Given the description of an element on the screen output the (x, y) to click on. 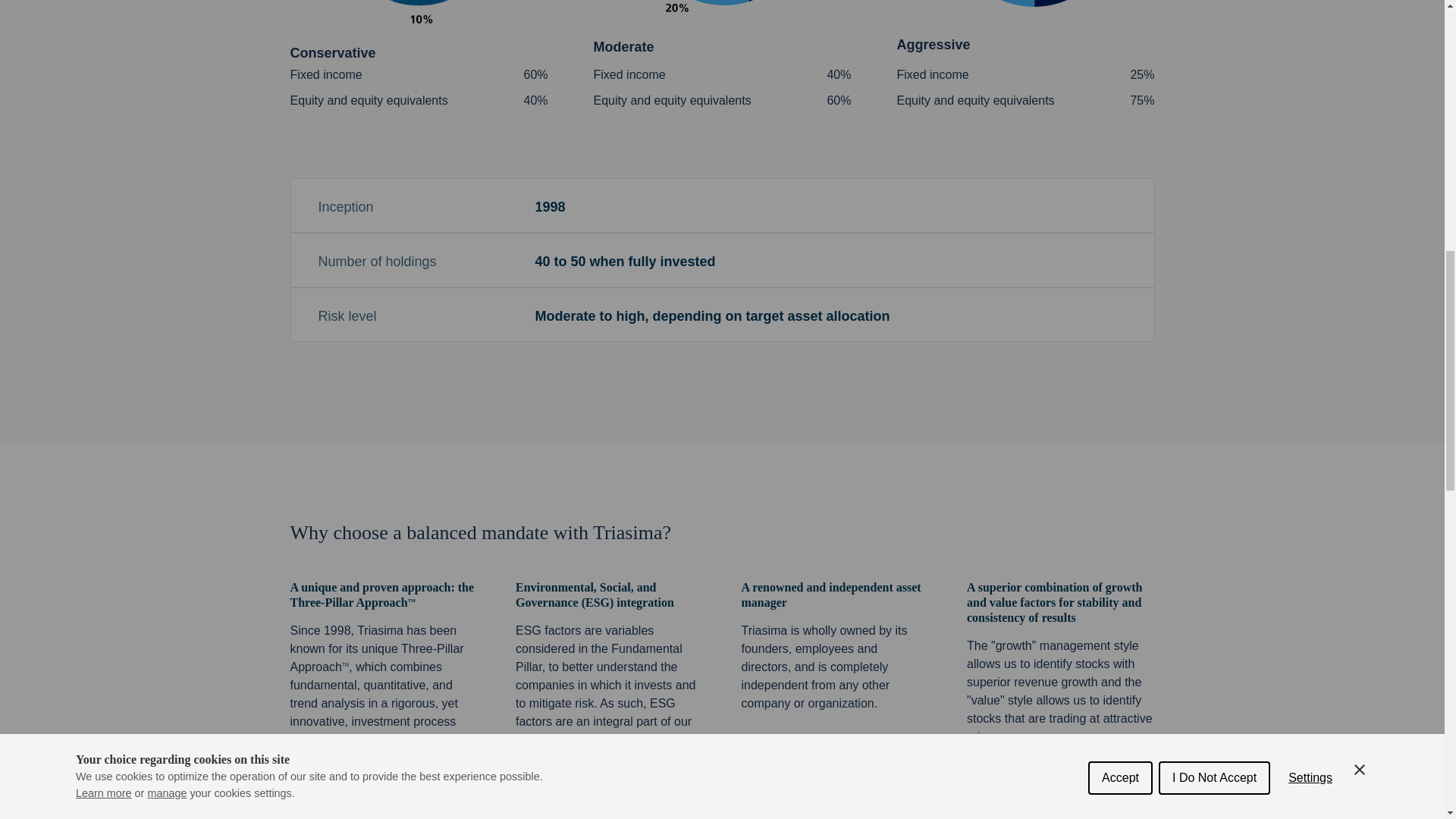
manage (166, 47)
Accept (1120, 24)
Discover our approach (368, 800)
I Do Not Accept (1213, 12)
Settings (1309, 8)
Learn more (103, 52)
